Given the description of an element on the screen output the (x, y) to click on. 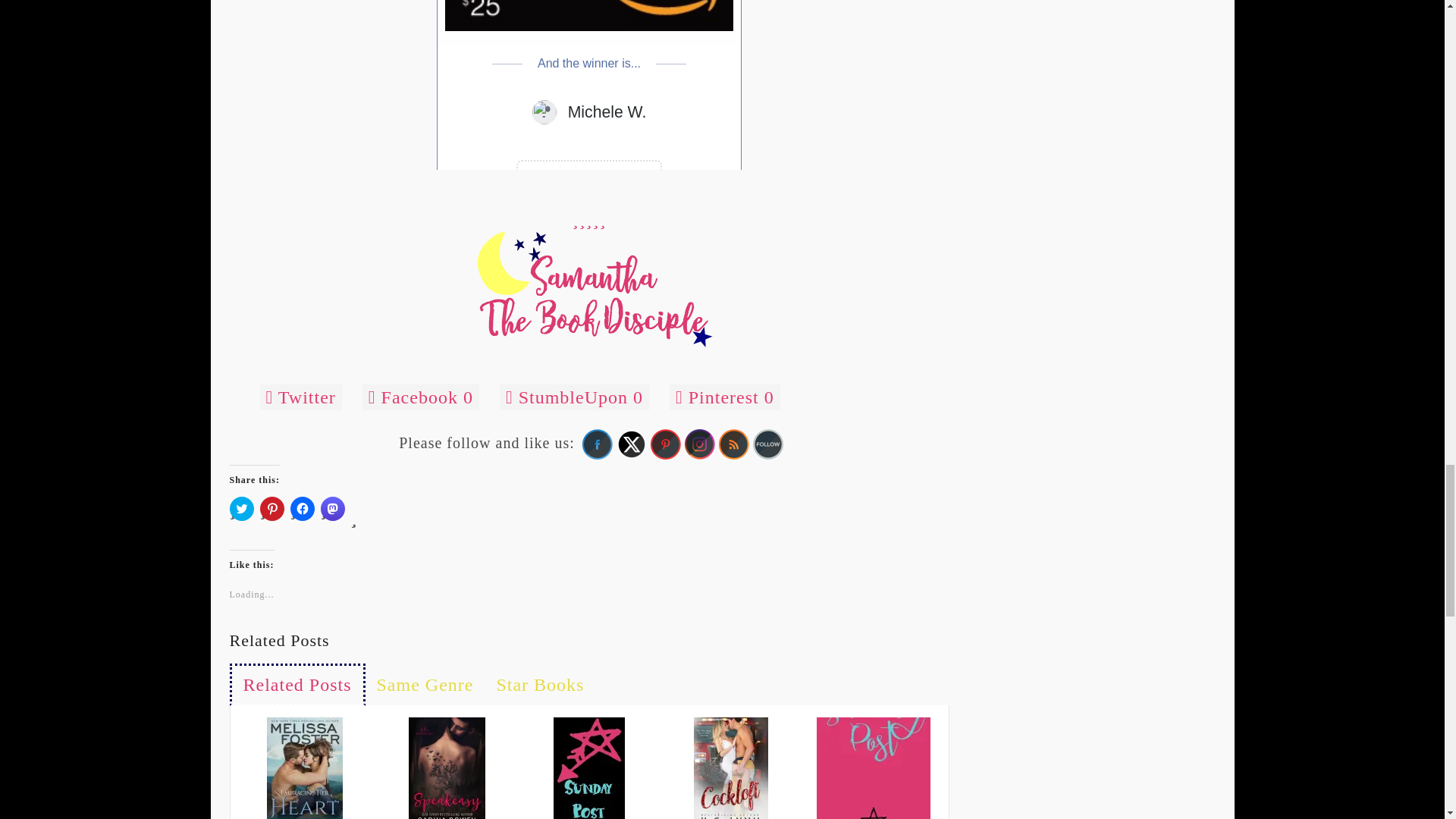
Pinterest (665, 444)
Instagram (699, 444)
Facebook (597, 444)
Twitter (630, 444)
Facebook 0 (420, 397)
Twitter (299, 397)
Follow by Email (767, 444)
RSS (734, 444)
